Given the description of an element on the screen output the (x, y) to click on. 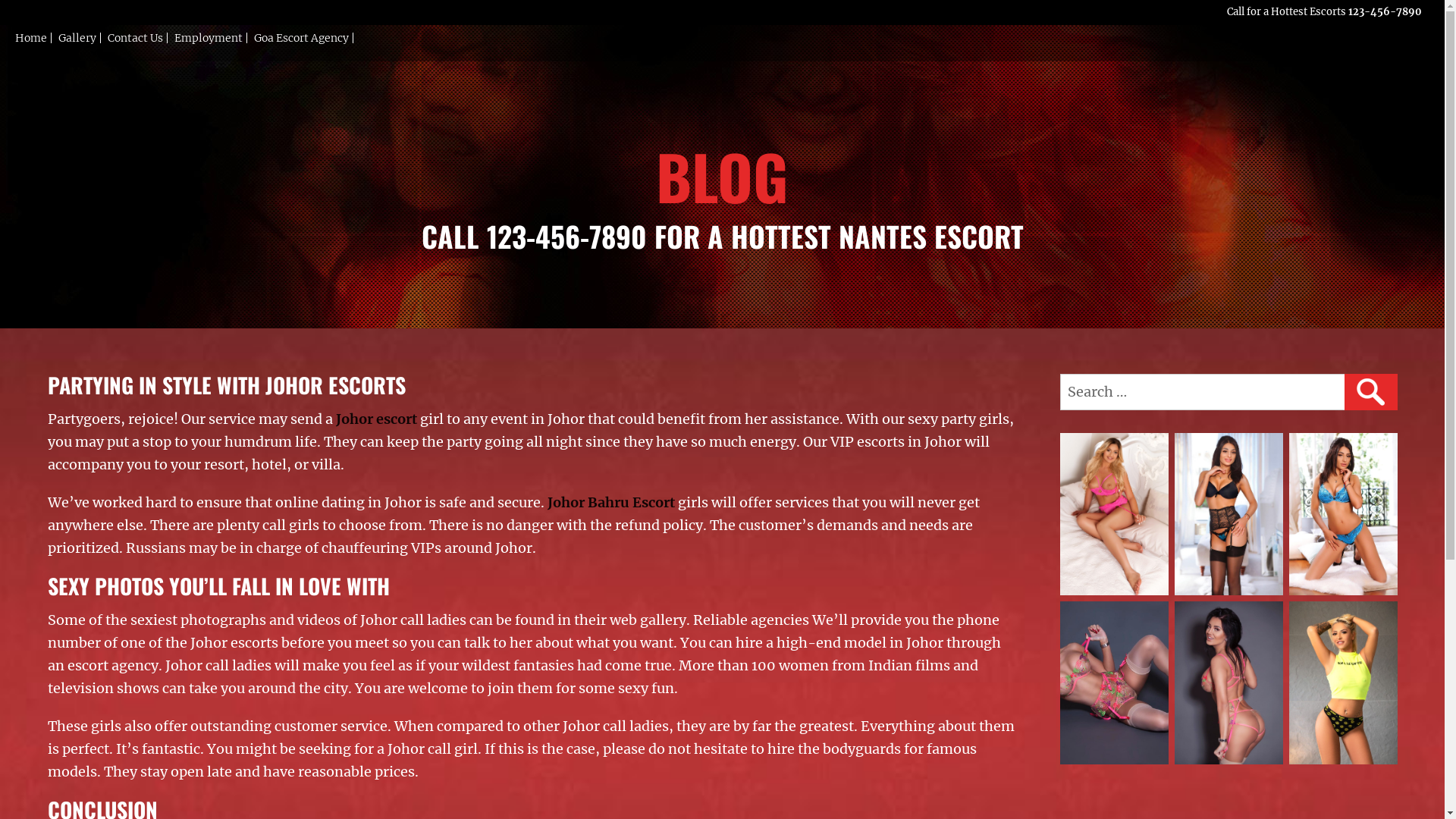
Contact Us Element type: text (135, 37)
SEARCH Element type: text (1369, 391)
Johor Bahru Escort Element type: text (610, 502)
Johor escort Element type: text (375, 418)
Goa Escort Agency Element type: text (301, 37)
Home Element type: text (31, 37)
Gallery Element type: text (77, 37)
Employment Element type: text (208, 37)
